Given the description of an element on the screen output the (x, y) to click on. 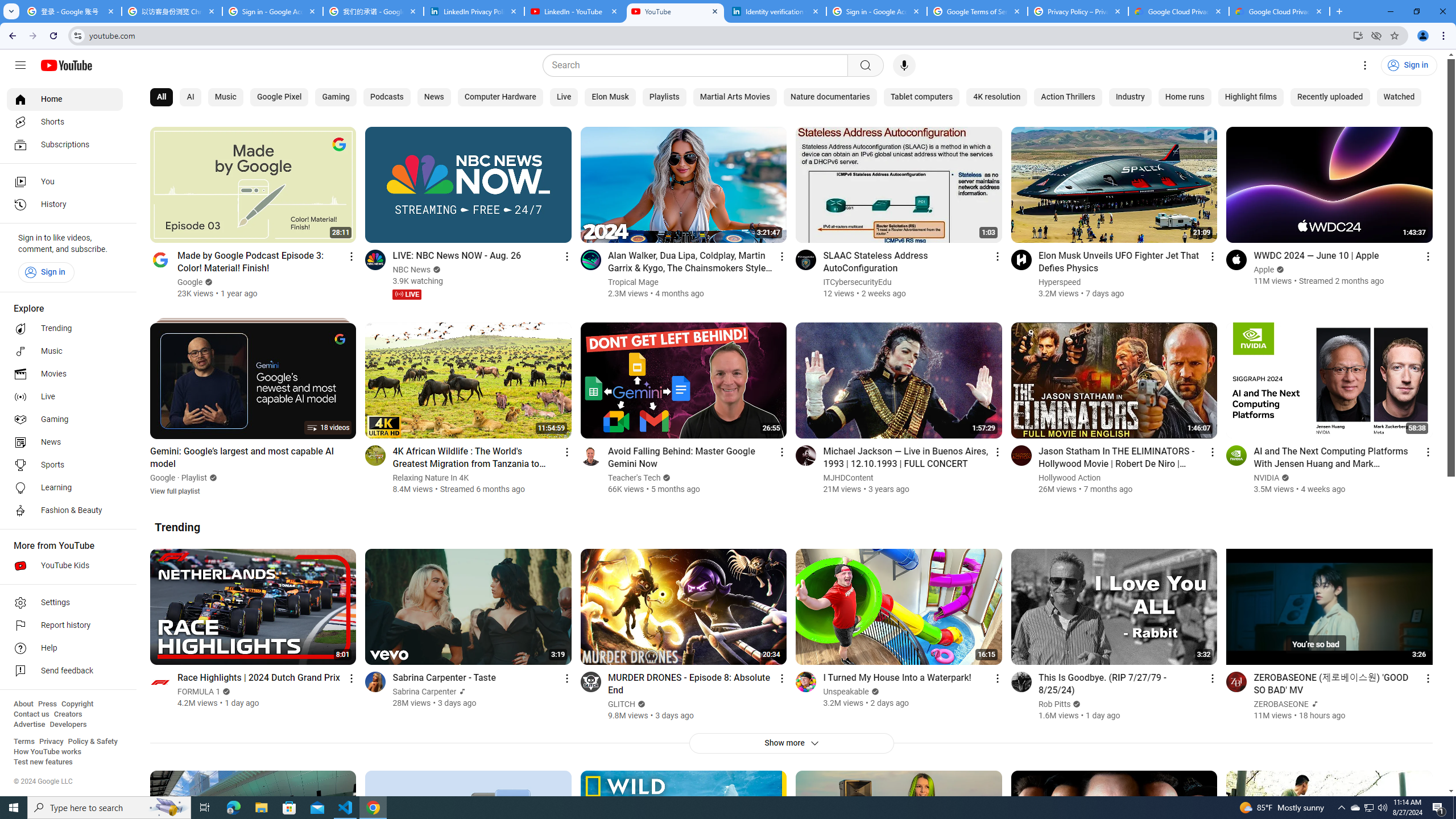
LIVE: NBC News NOW - Aug. 26 by NBC News 61,506 views (457, 255)
Trending (177, 526)
AI (189, 97)
Movies (64, 373)
